Given the description of an element on the screen output the (x, y) to click on. 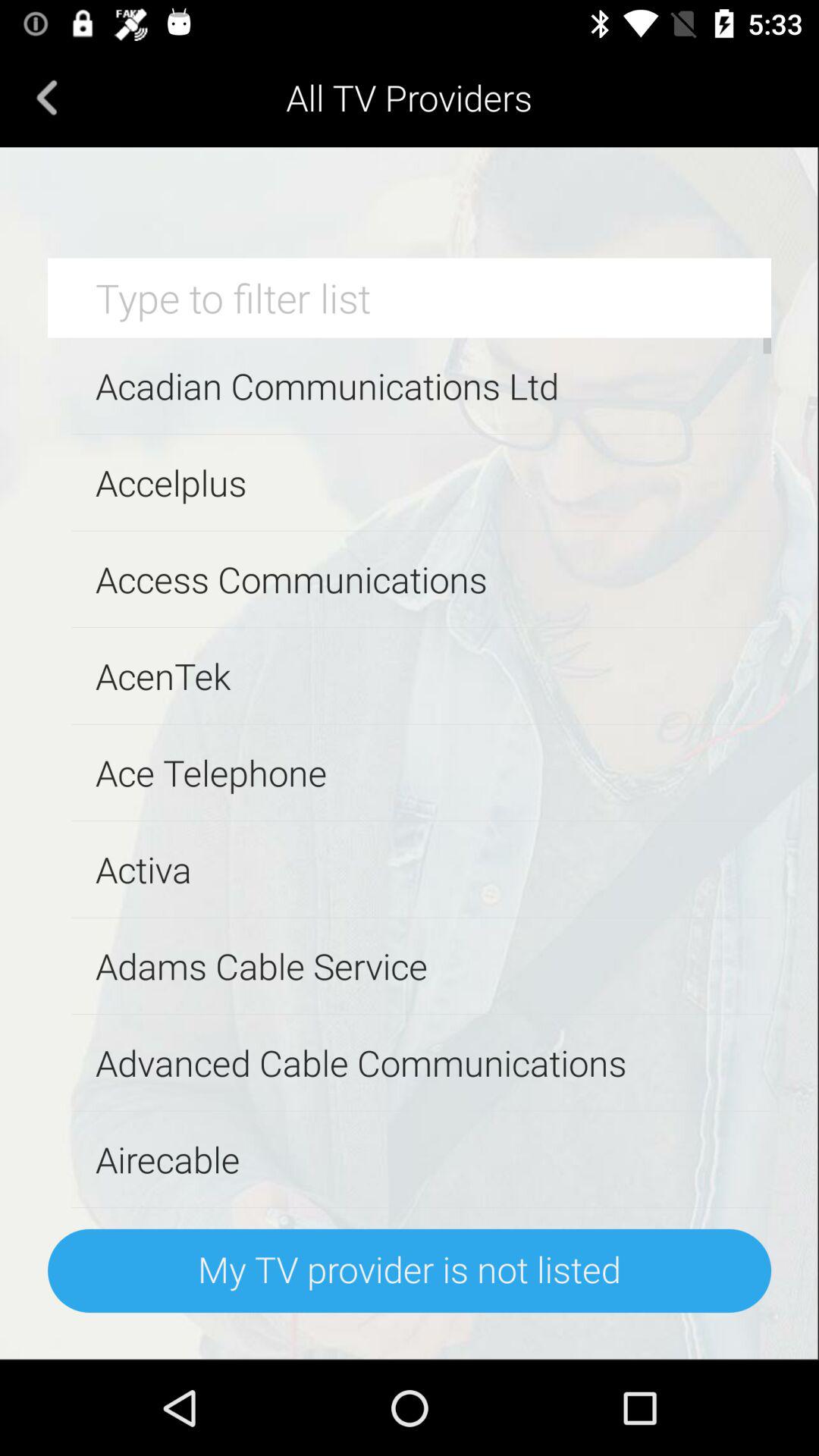
select the last highlighted option (409, 1270)
